Given the description of an element on the screen output the (x, y) to click on. 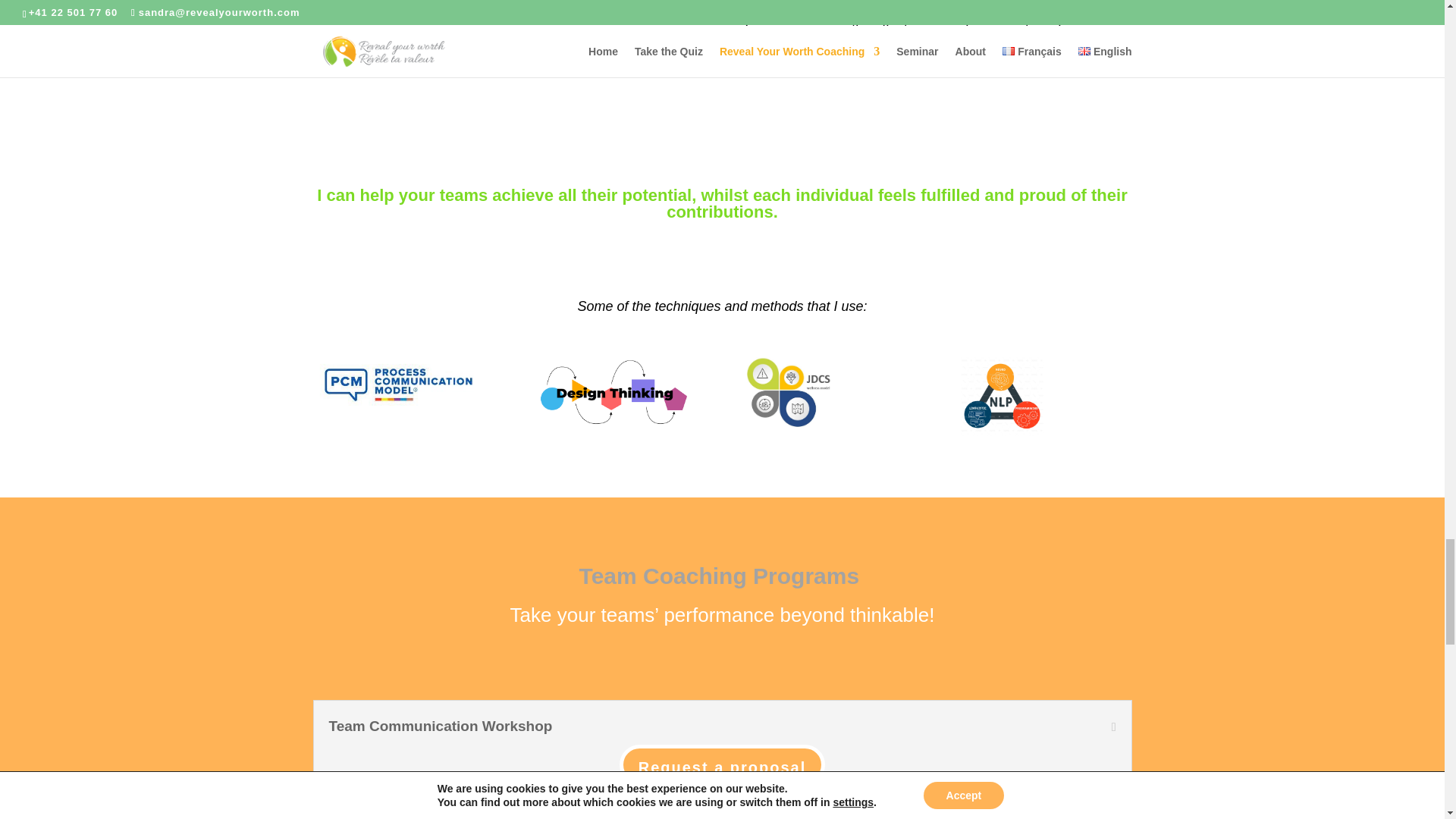
design thinking logo (613, 392)
PCM model text (398, 385)
JDCS wellness model logo (788, 393)
